Given the description of an element on the screen output the (x, y) to click on. 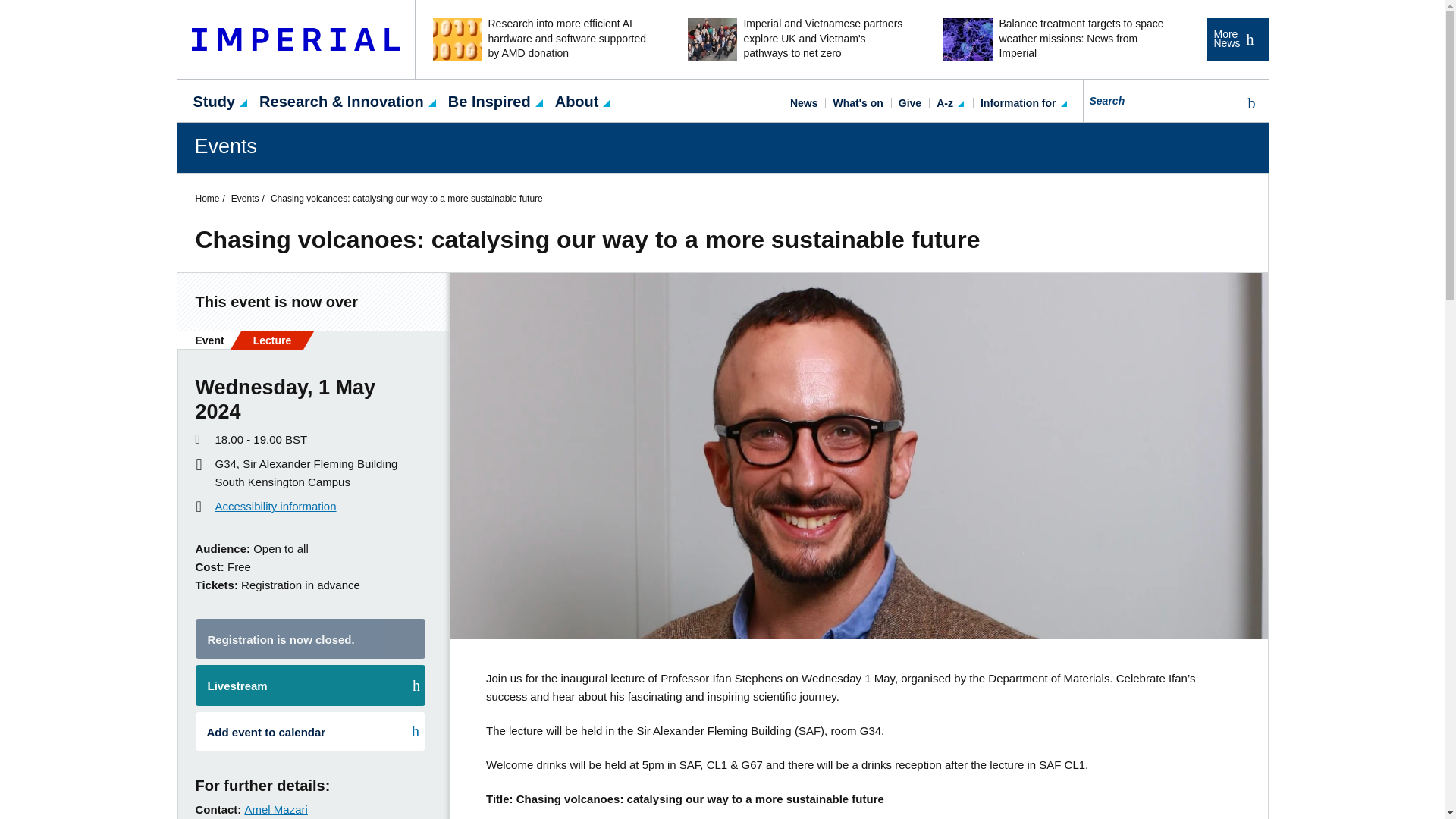
More News (1236, 39)
Study (213, 100)
Search for... (1161, 100)
Search (1249, 102)
Imperial College London Home (295, 39)
